Given the description of an element on the screen output the (x, y) to click on. 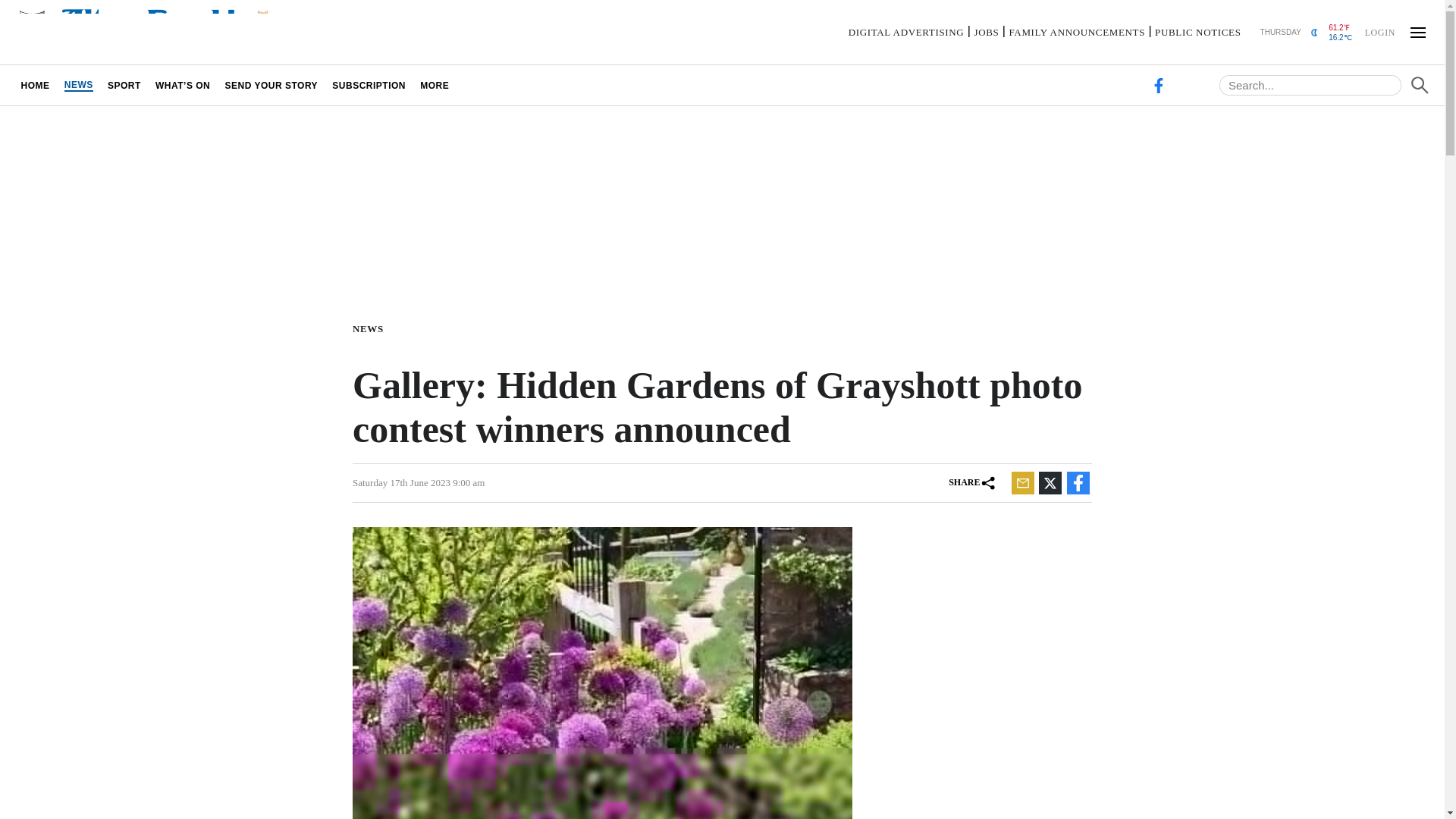
HOME (34, 85)
PUBLIC NOTICES (1197, 32)
SEND YOUR STORY (270, 85)
SUBSCRIPTION (368, 85)
NEWS (371, 328)
LOGIN (1379, 31)
SPORT (124, 85)
MORE (435, 85)
NEWS (78, 85)
